Given the description of an element on the screen output the (x, y) to click on. 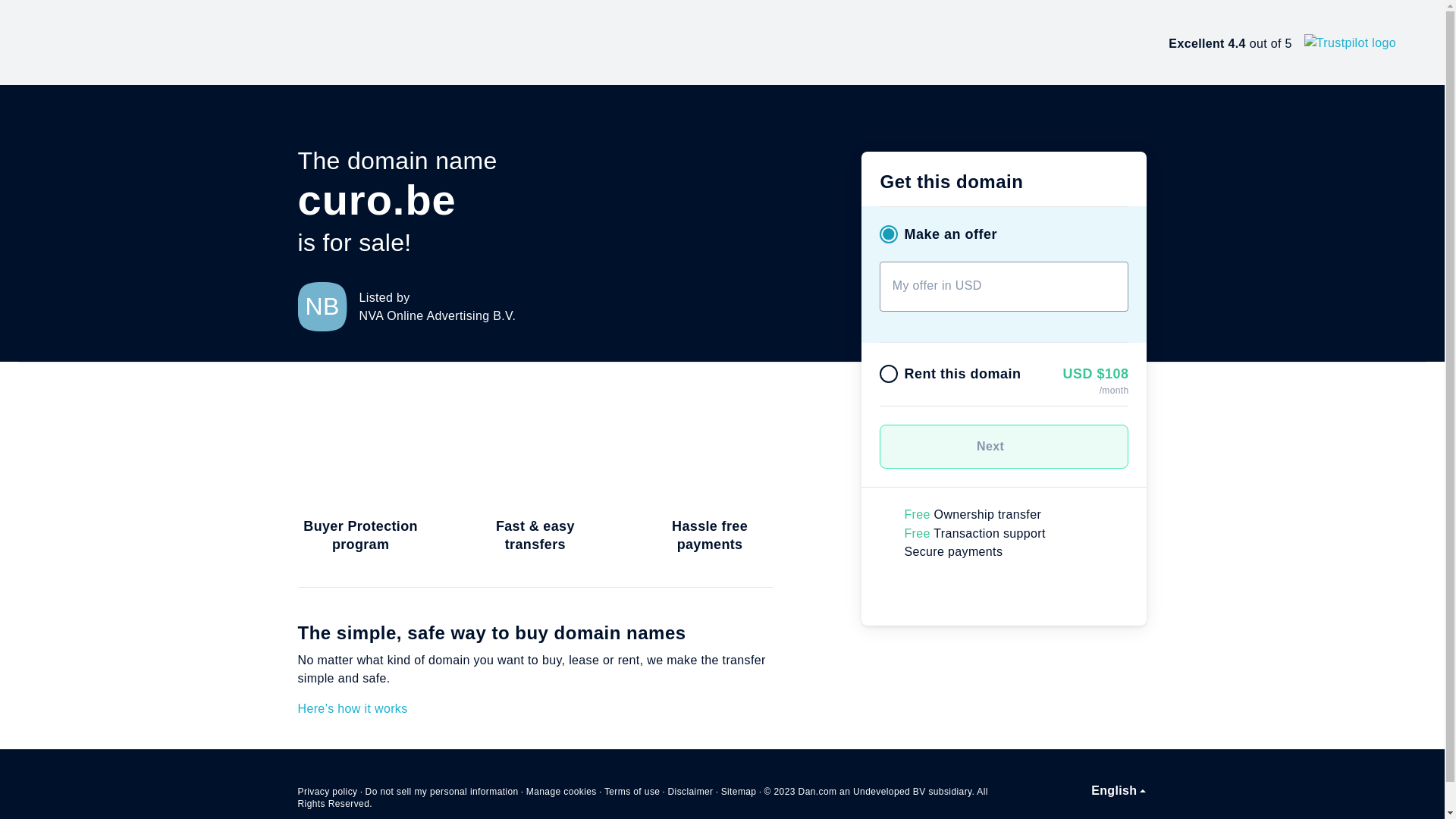
Do not sell my personal information Element type: text (441, 791)
Privacy policy Element type: text (327, 791)
Manage cookies Element type: text (561, 791)
English Element type: text (1118, 790)
Excellent 4.4 out of 5 Element type: text (1282, 42)
Sitemap Element type: text (738, 791)
Terms of use Element type: text (632, 791)
Disclaimer Element type: text (689, 791)
Next
) Element type: text (1003, 446)
